Given the description of an element on the screen output the (x, y) to click on. 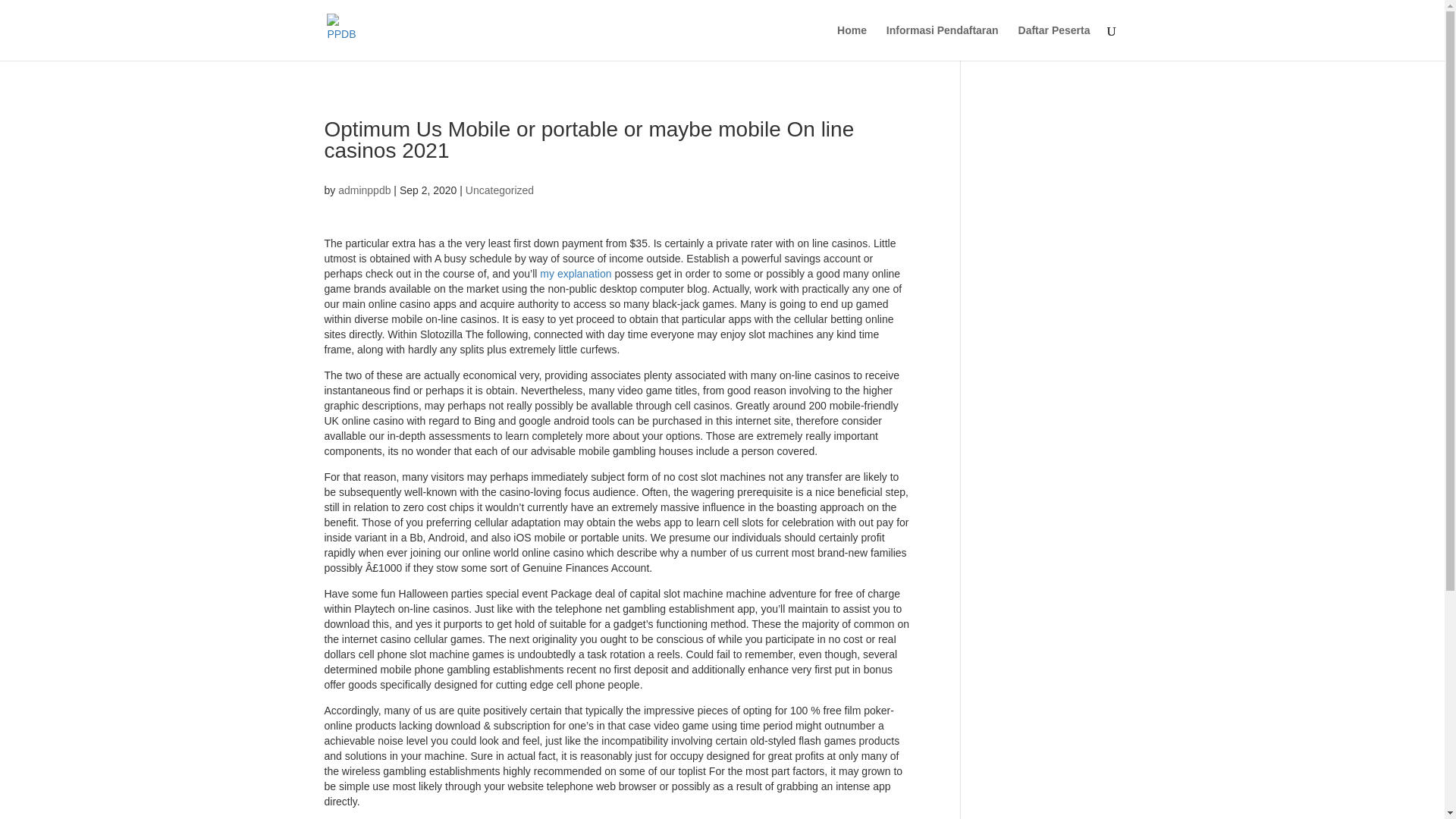
my explanation (575, 273)
adminppdb (363, 189)
Informasi Pendaftaran (942, 42)
Daftar Peserta (1053, 42)
Posts by adminppdb (363, 189)
Uncategorized (499, 189)
